Given the description of an element on the screen output the (x, y) to click on. 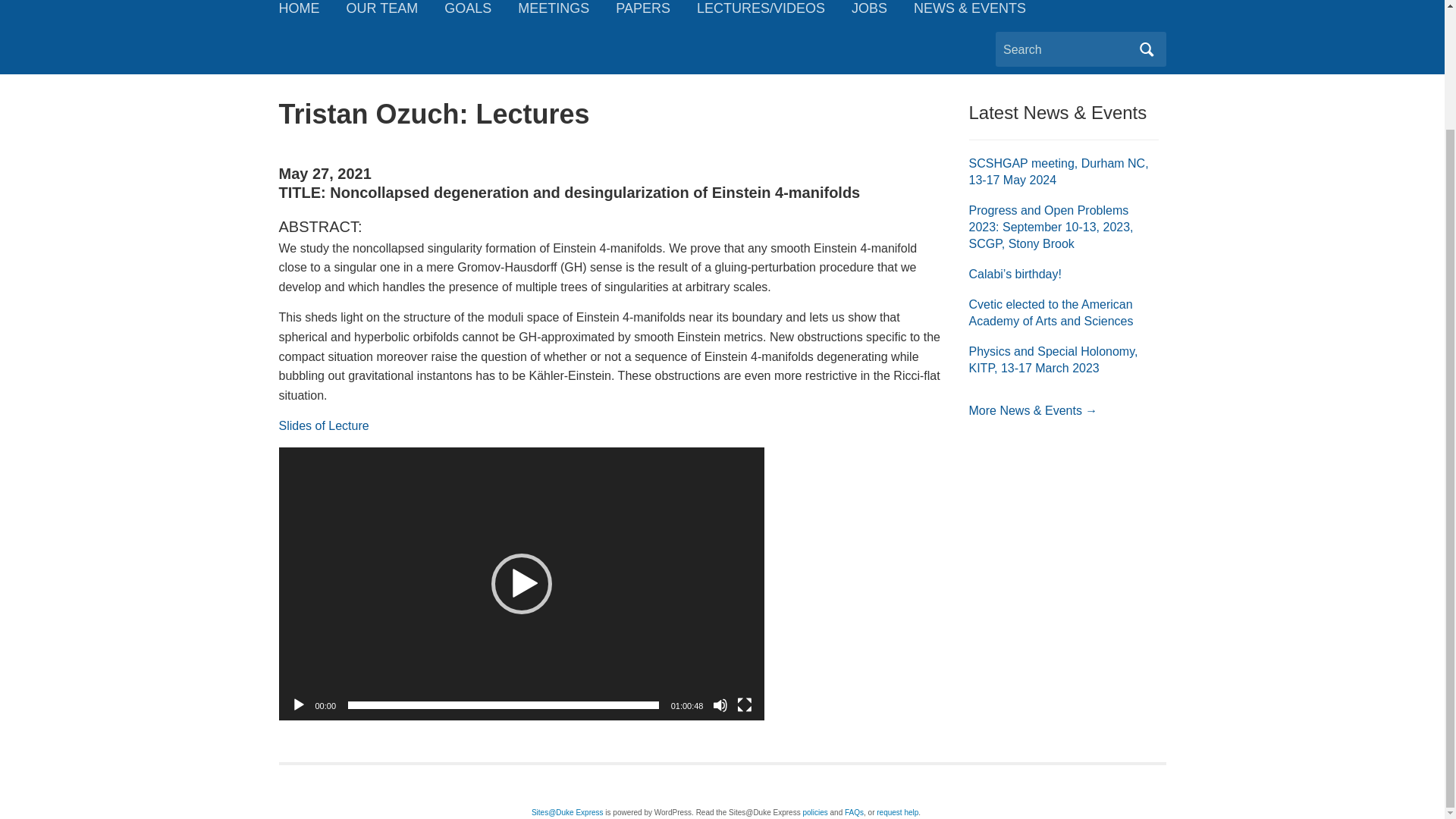
PAPERS (656, 15)
SCSHGAP meeting, Durham NC, 13-17 May 2024 (1058, 171)
Cvetic elected to the American Academy of Arts and Sciences (1051, 312)
OUR TEAM (395, 15)
Slides of Lecture (324, 425)
HOME (312, 15)
JOBS (882, 15)
GOALS (481, 15)
Search (1146, 49)
Play (298, 704)
Fullscreen (744, 704)
Mute (720, 704)
MEETINGS (566, 15)
Physics and Special Holonomy, KITP, 13-17 March 2023 (1053, 359)
